Given the description of an element on the screen output the (x, y) to click on. 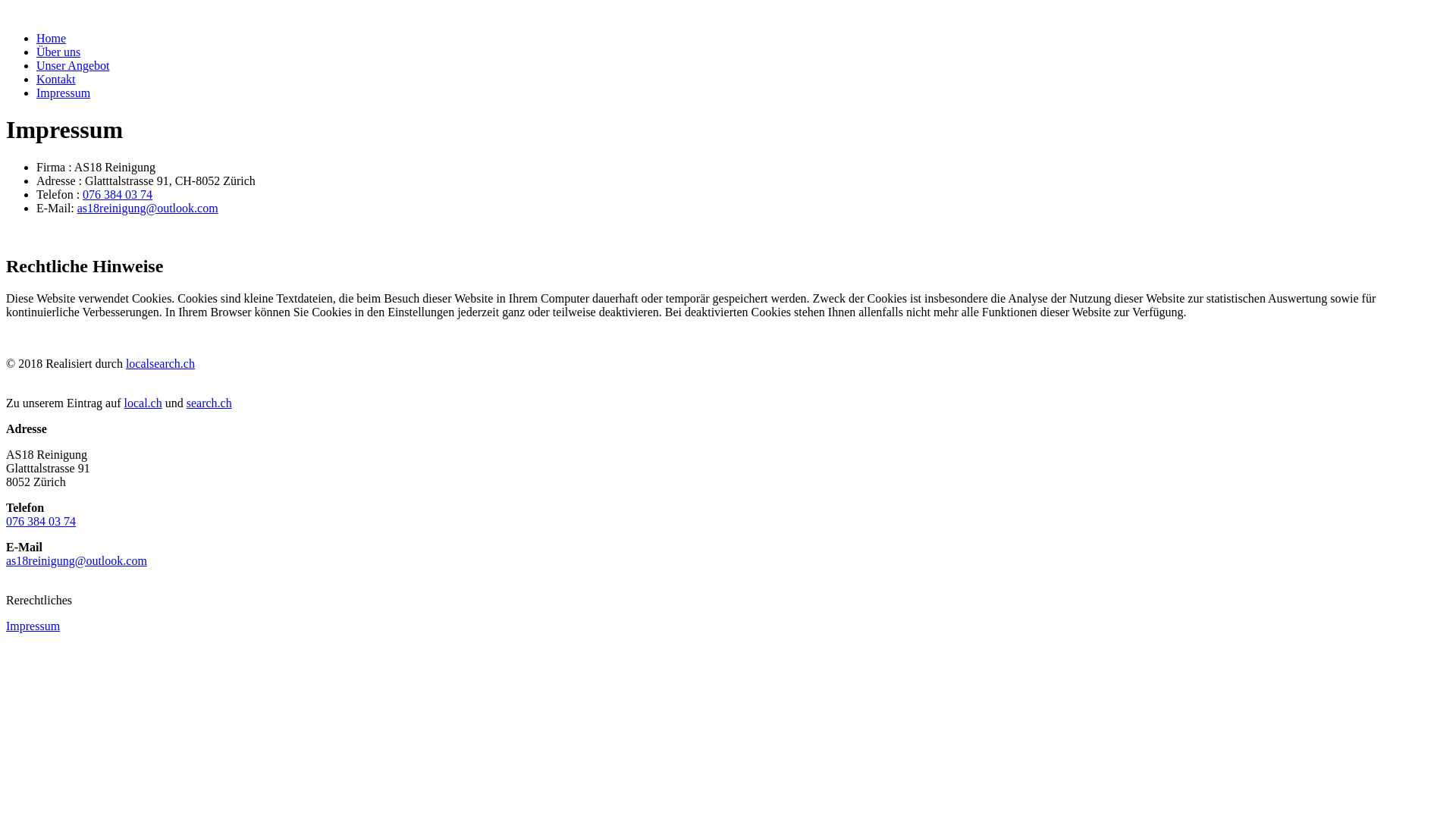
search.ch Element type: text (209, 402)
Impressum Element type: text (32, 625)
local.ch Element type: text (143, 402)
as18reinigung@outlook.com Element type: text (76, 560)
076 384 03 74 Element type: text (40, 520)
Kontakt Element type: text (55, 78)
Home Element type: text (50, 37)
076 384 03 74 Element type: text (117, 194)
Impressum Element type: text (63, 92)
localsearch.ch Element type: text (159, 363)
Unser Angebot Element type: text (72, 65)
as18reinigung@outlook.com Element type: text (147, 207)
